Given the description of an element on the screen output the (x, y) to click on. 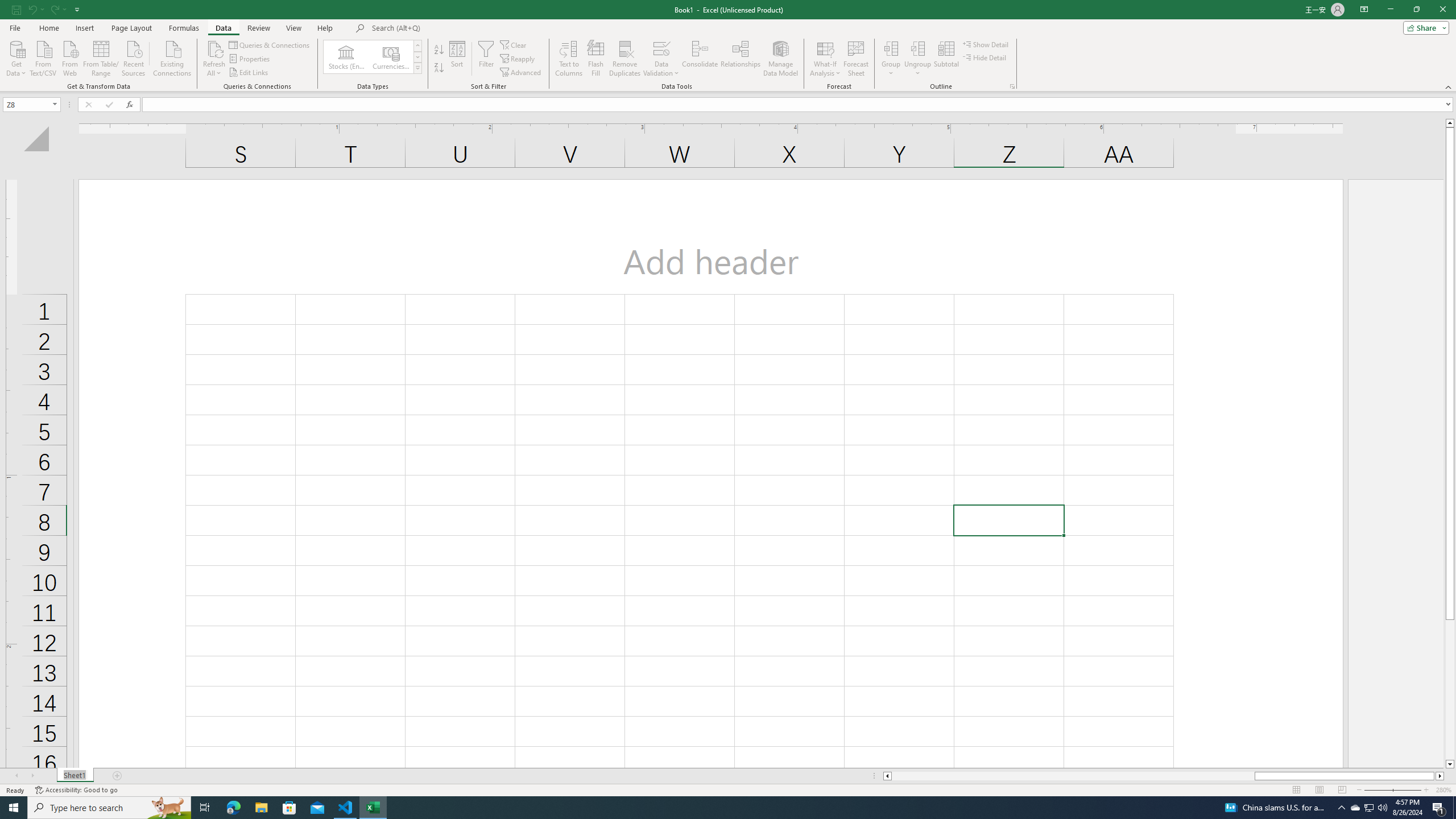
Consolidate... (700, 58)
